Given the description of an element on the screen output the (x, y) to click on. 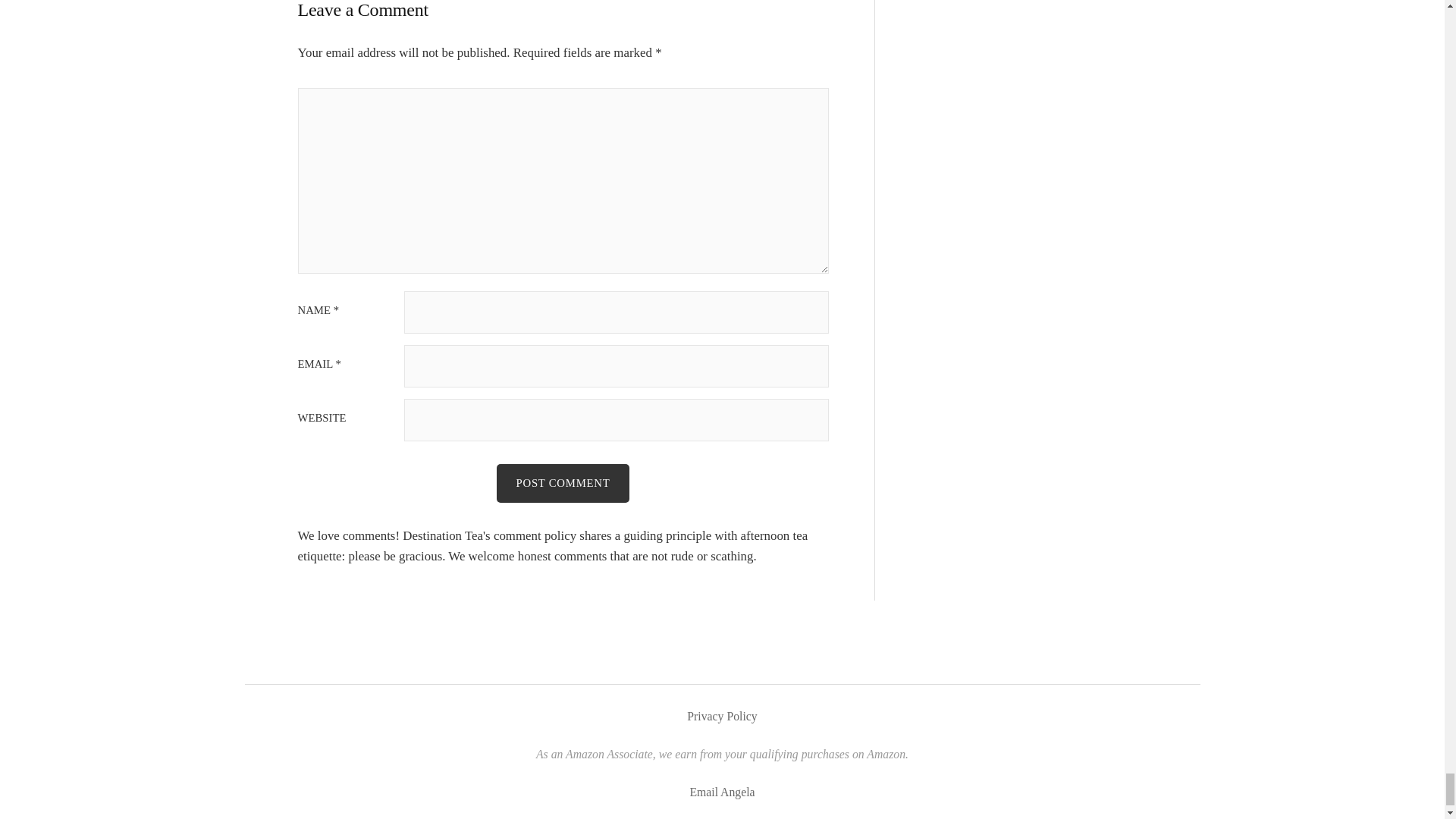
Post Comment (562, 483)
